Given the description of an element on the screen output the (x, y) to click on. 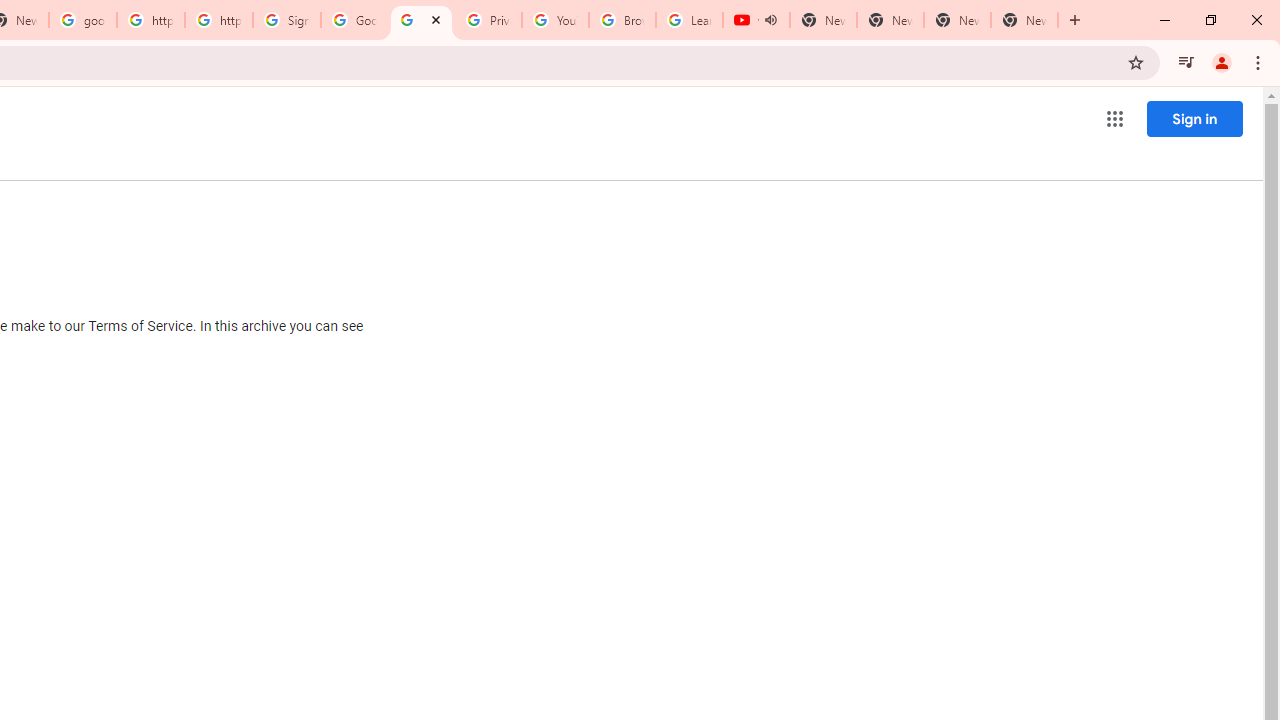
New Tab (1024, 20)
https://scholar.google.com/ (219, 20)
https://scholar.google.com/ (150, 20)
Mute tab (770, 20)
